Given the description of an element on the screen output the (x, y) to click on. 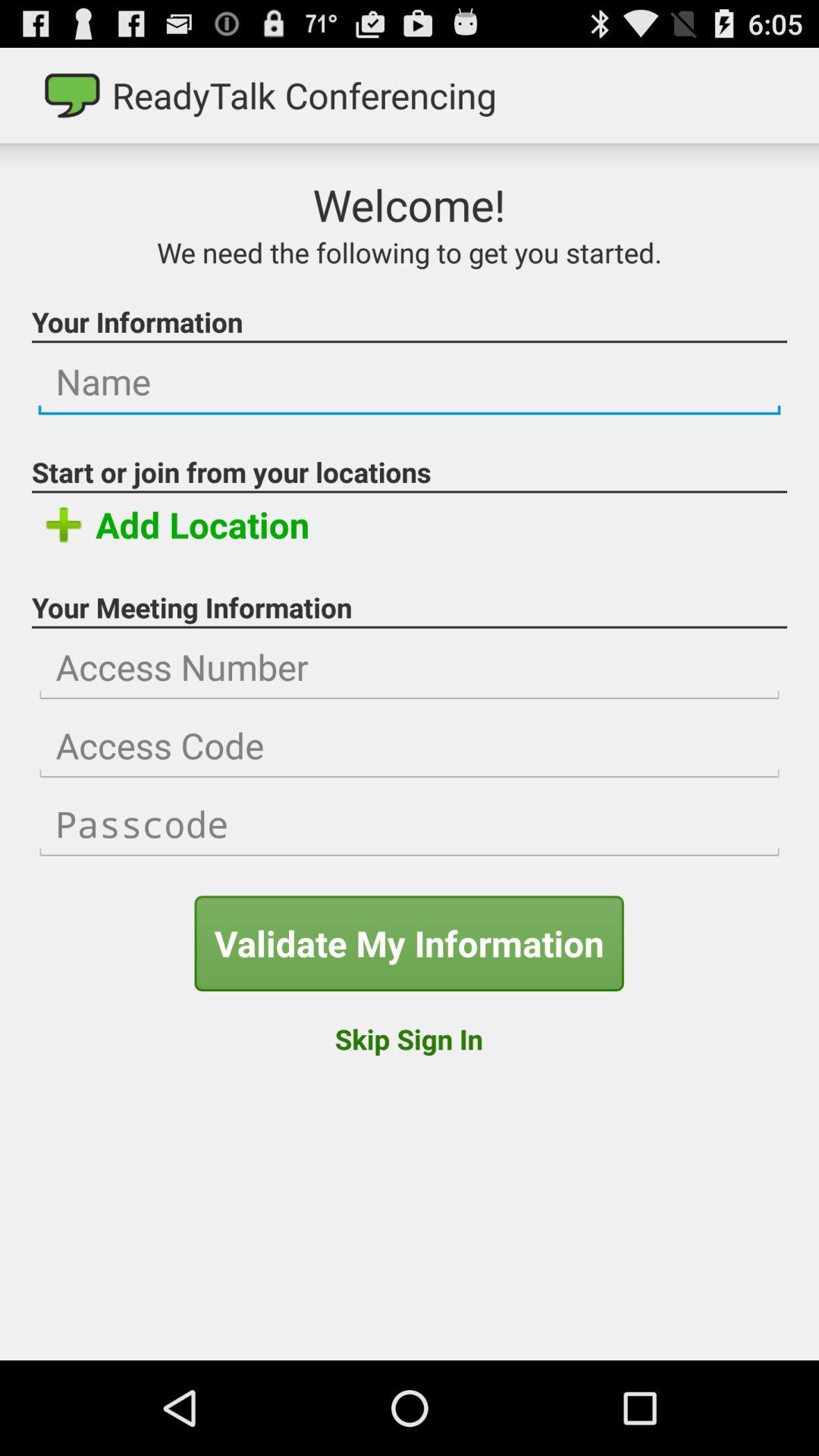
flip until validate my information item (408, 943)
